Given the description of an element on the screen output the (x, y) to click on. 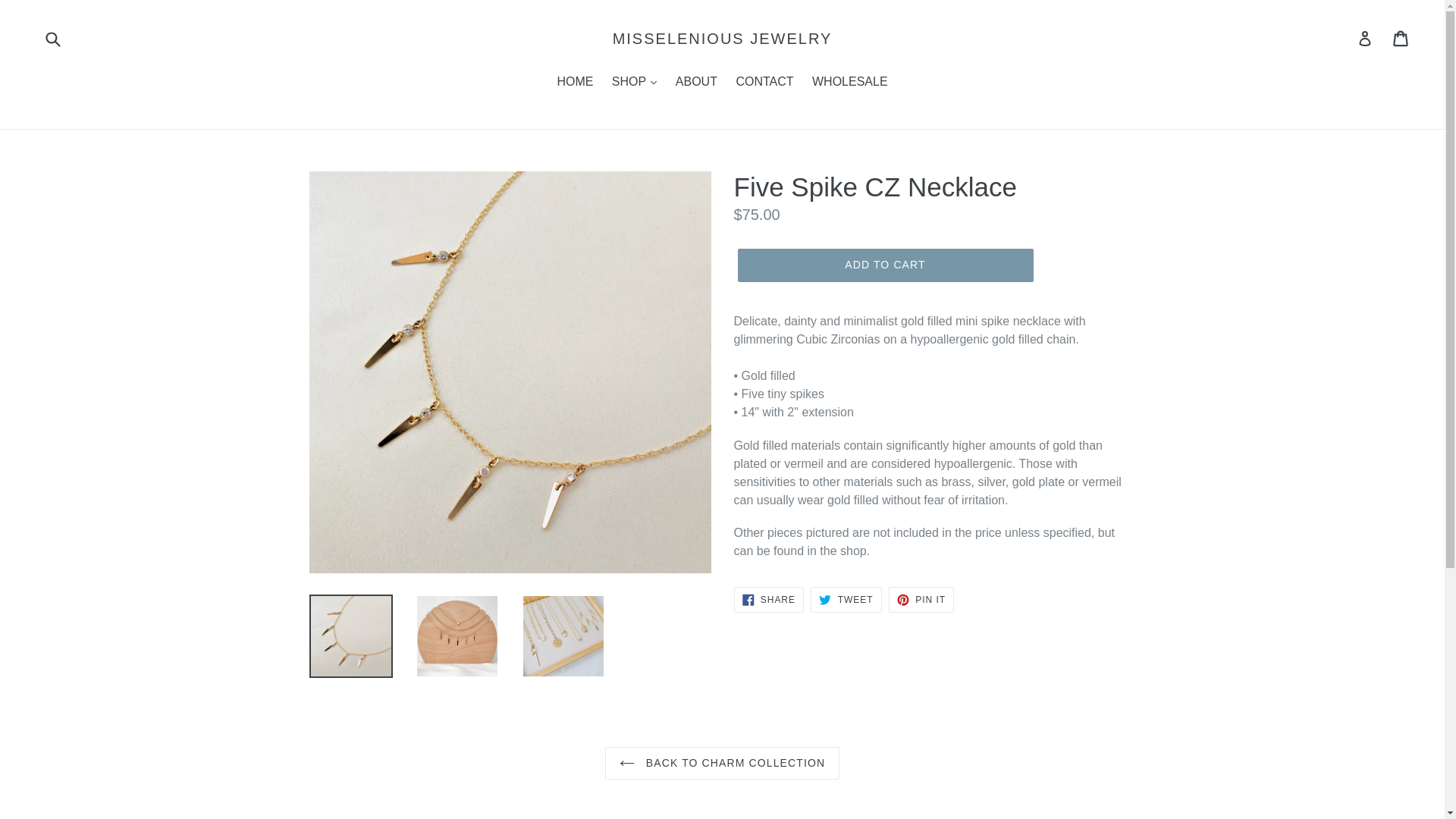
Pin on Pinterest (920, 599)
ABOUT (696, 82)
Tweet on Twitter (845, 599)
MISSELENIOUS JEWELRY (722, 38)
HOME (573, 82)
CONTACT (764, 82)
Share on Facebook (768, 599)
